Given the description of an element on the screen output the (x, y) to click on. 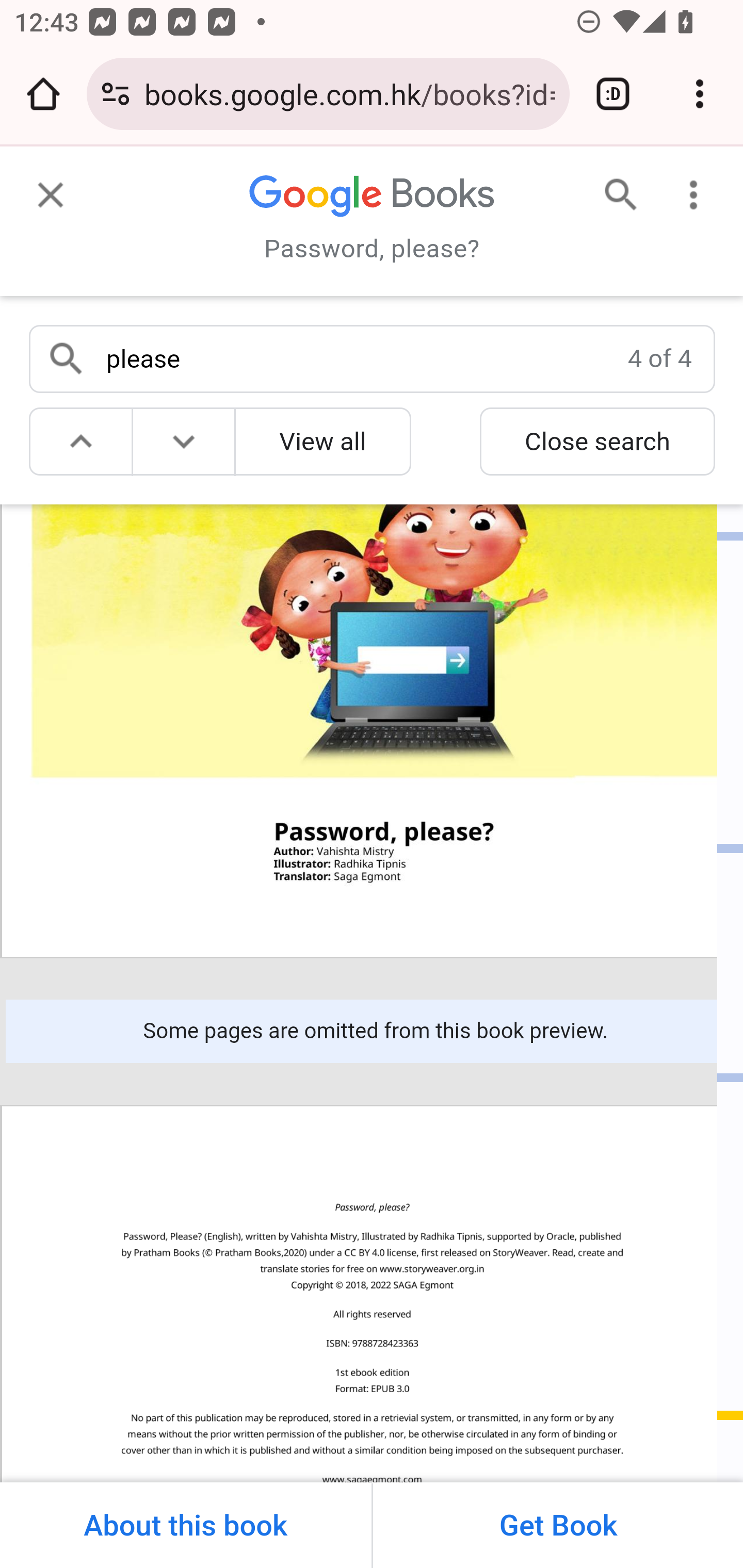
Open the home page (43, 93)
Connection is secure (115, 93)
Switch or close tabs (612, 93)
Customize and control Google Chrome (699, 93)
Close (44, 188)
Search in this book (614, 188)
More actions (700, 188)
please (361, 354)
Close search (597, 444)
Previous result (80, 445)
Next result (183, 445)
View all (321, 445)
About this book (186, 1524)
Get Book (556, 1524)
